Given the description of an element on the screen output the (x, y) to click on. 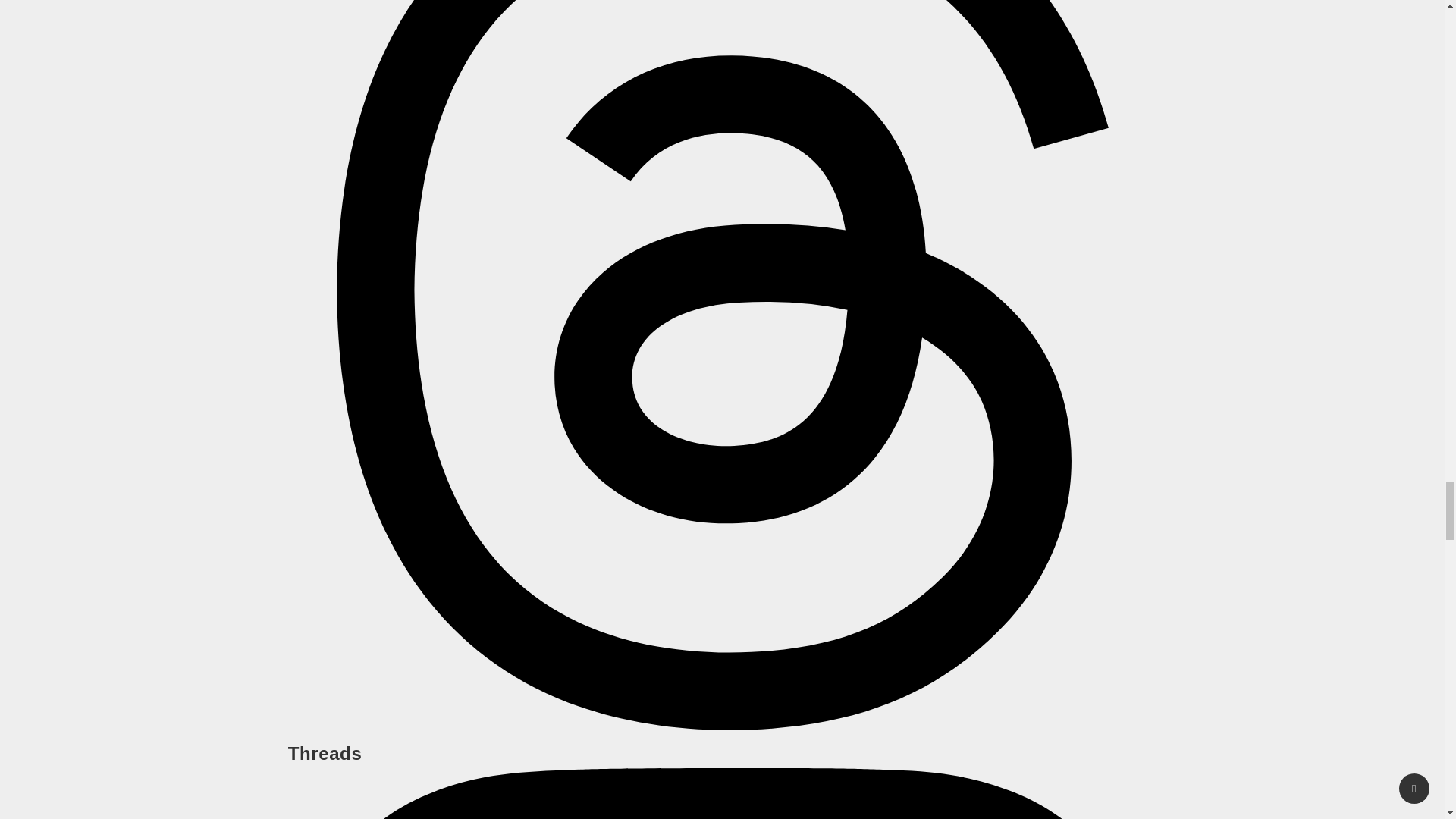
Instagram (721, 793)
